Given the description of an element on the screen output the (x, y) to click on. 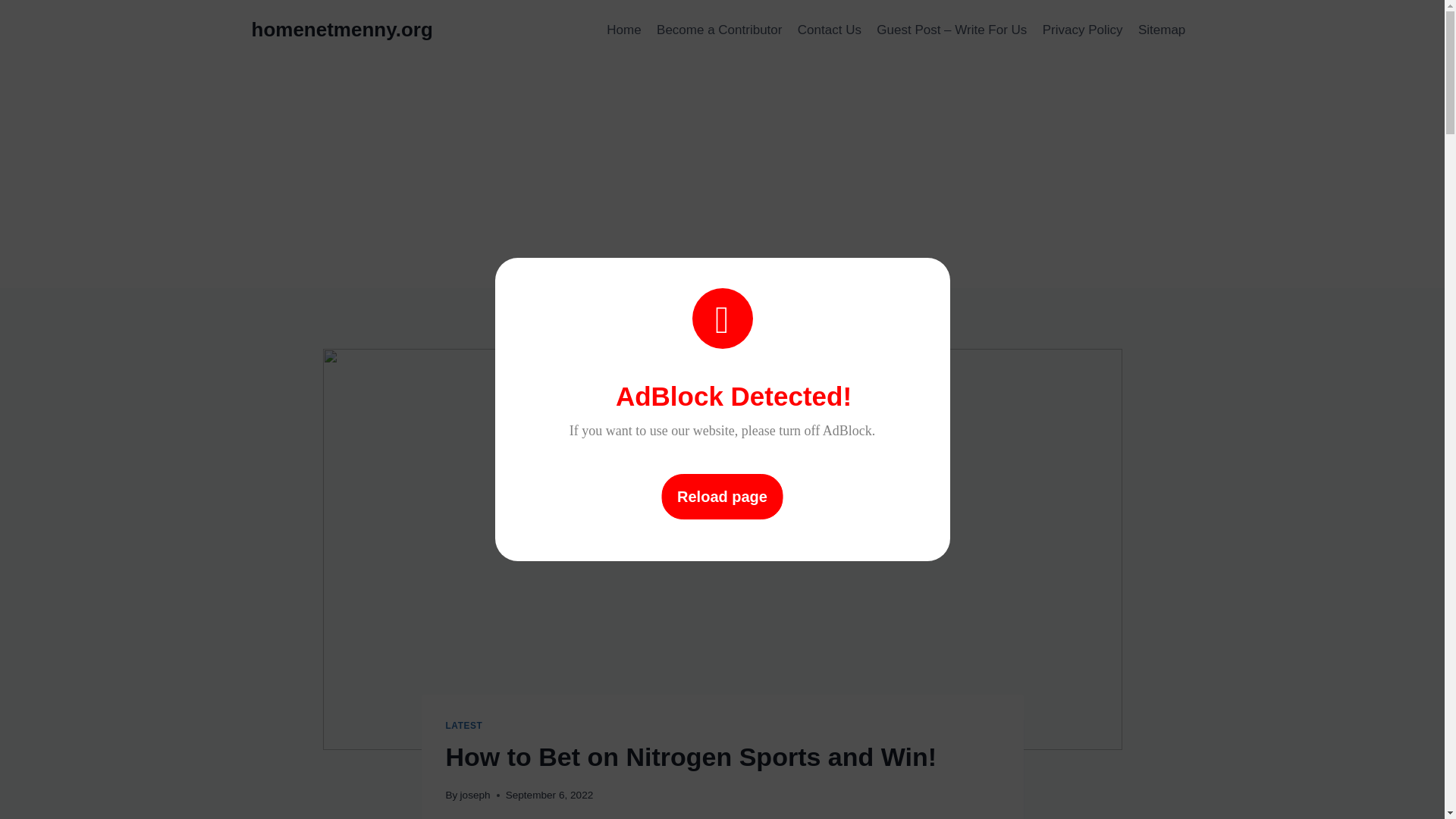
LATEST (464, 725)
Privacy Policy (1083, 30)
Home (623, 30)
Sitemap (1162, 30)
Reload page (722, 496)
joseph (475, 794)
Become a Contributor (719, 30)
Contact Us (829, 30)
homenetmenny.org (341, 29)
